Given the description of an element on the screen output the (x, y) to click on. 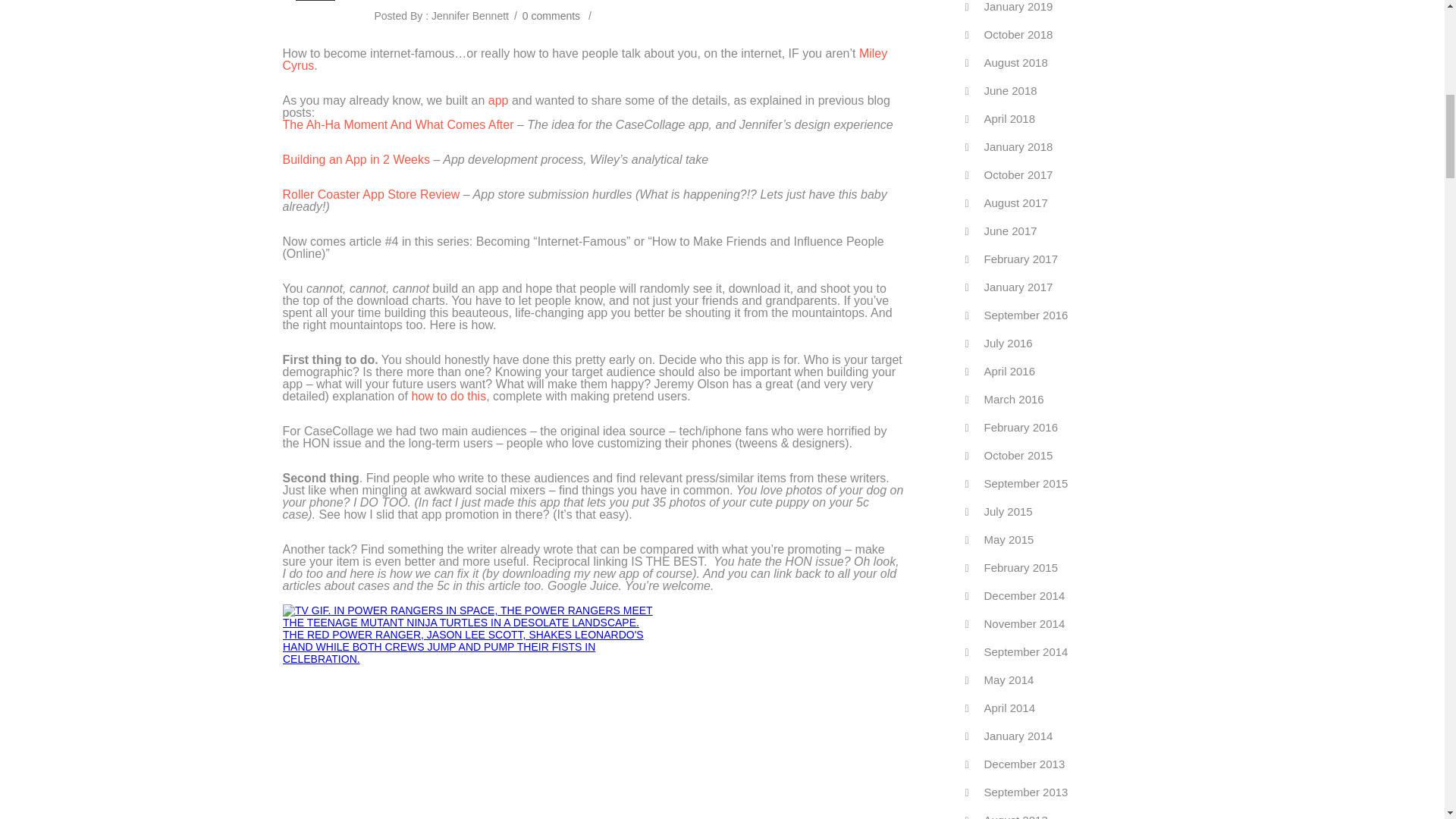
Building an App in 2 Weeks (357, 159)
0 comments (550, 15)
Miley Cyrus (584, 59)
app (497, 100)
Roller Coaster App Store Review (371, 194)
how to do this (448, 395)
The Ah-Ha Moment And What Comes After (397, 124)
